Given the description of an element on the screen output the (x, y) to click on. 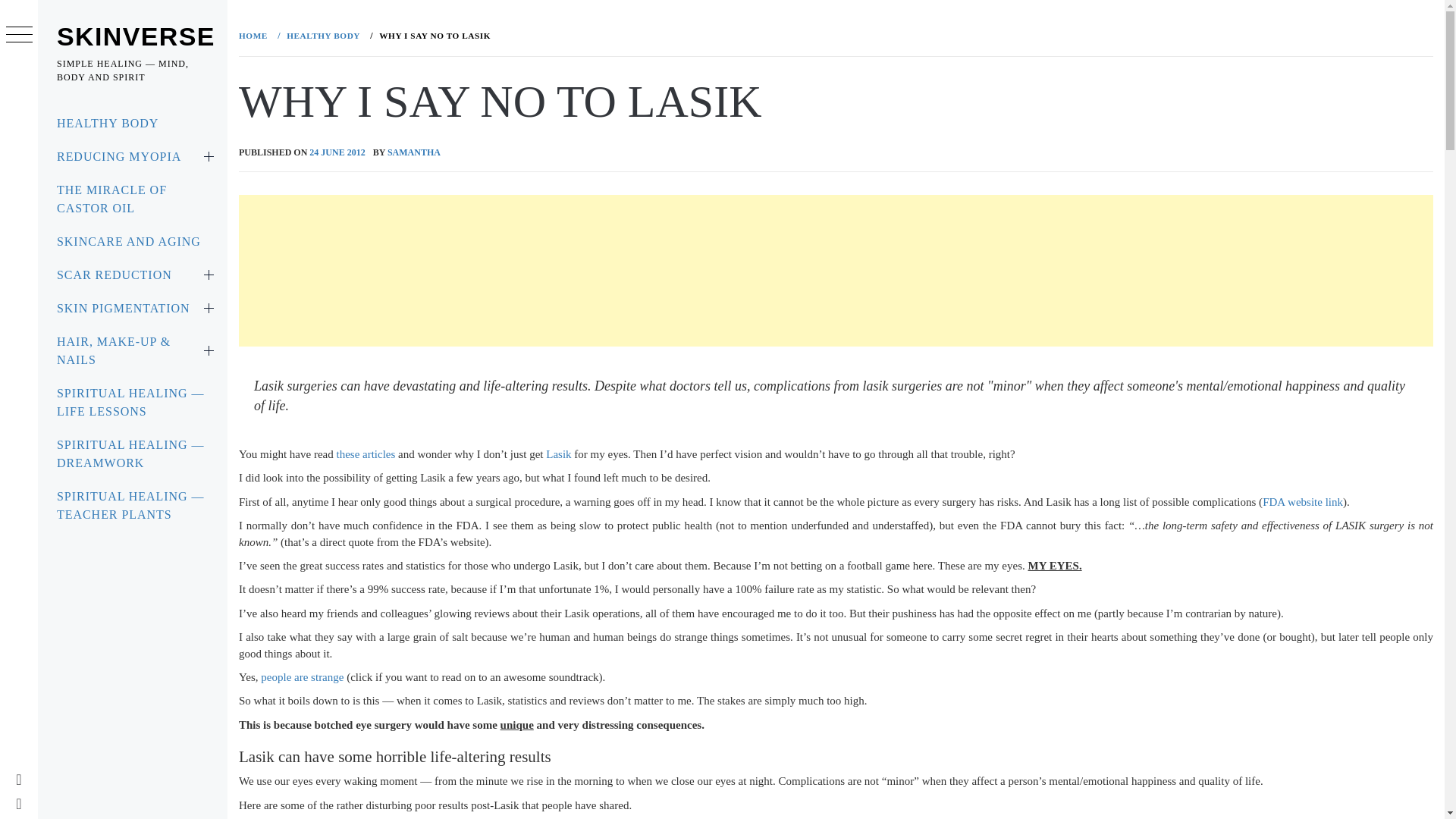
Search (646, 37)
HEALTHY BODY (132, 123)
HEALTHY BODY (321, 35)
articles (378, 453)
WHY I SAY NO TO LASIK (432, 35)
THE MIRACLE OF CASTOR OIL (132, 199)
SAMANTHA (414, 152)
SKINVERSE (135, 36)
SKINCARE AND AGING (132, 241)
people are strange (301, 676)
HOME (255, 35)
REDUCING MYOPIA (132, 156)
Lasik (558, 453)
these (347, 453)
24 JUNE 2012 (336, 152)
